Given the description of an element on the screen output the (x, y) to click on. 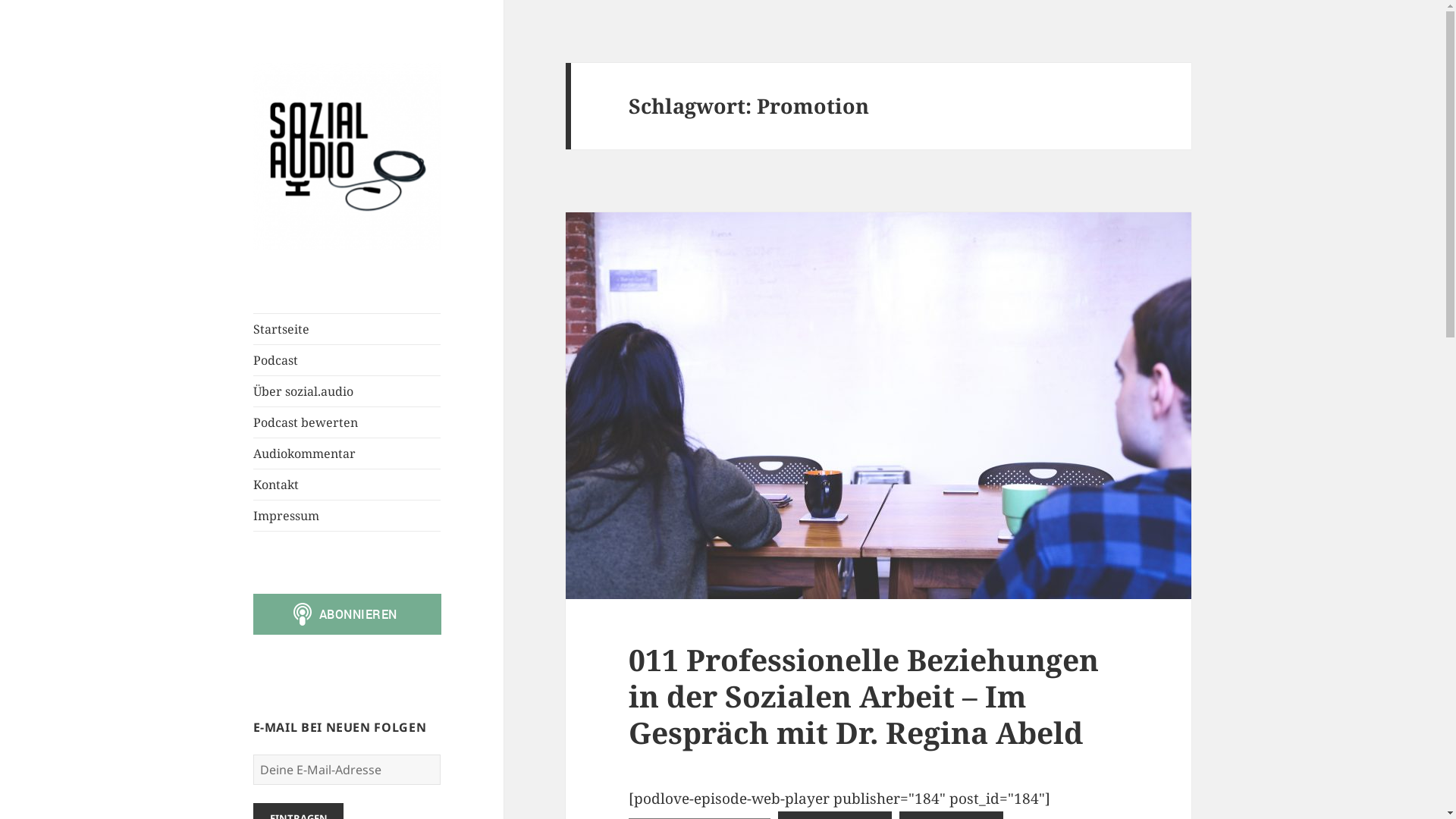
Impressum Element type: text (347, 515)
sozial.audio Element type: text (313, 274)
Podcast Element type: text (347, 360)
Startseite Element type: text (347, 328)
Audiokommentar Element type: text (347, 453)
Kontakt Element type: text (347, 484)
Podcast bewerten Element type: text (347, 422)
